Given the description of an element on the screen output the (x, y) to click on. 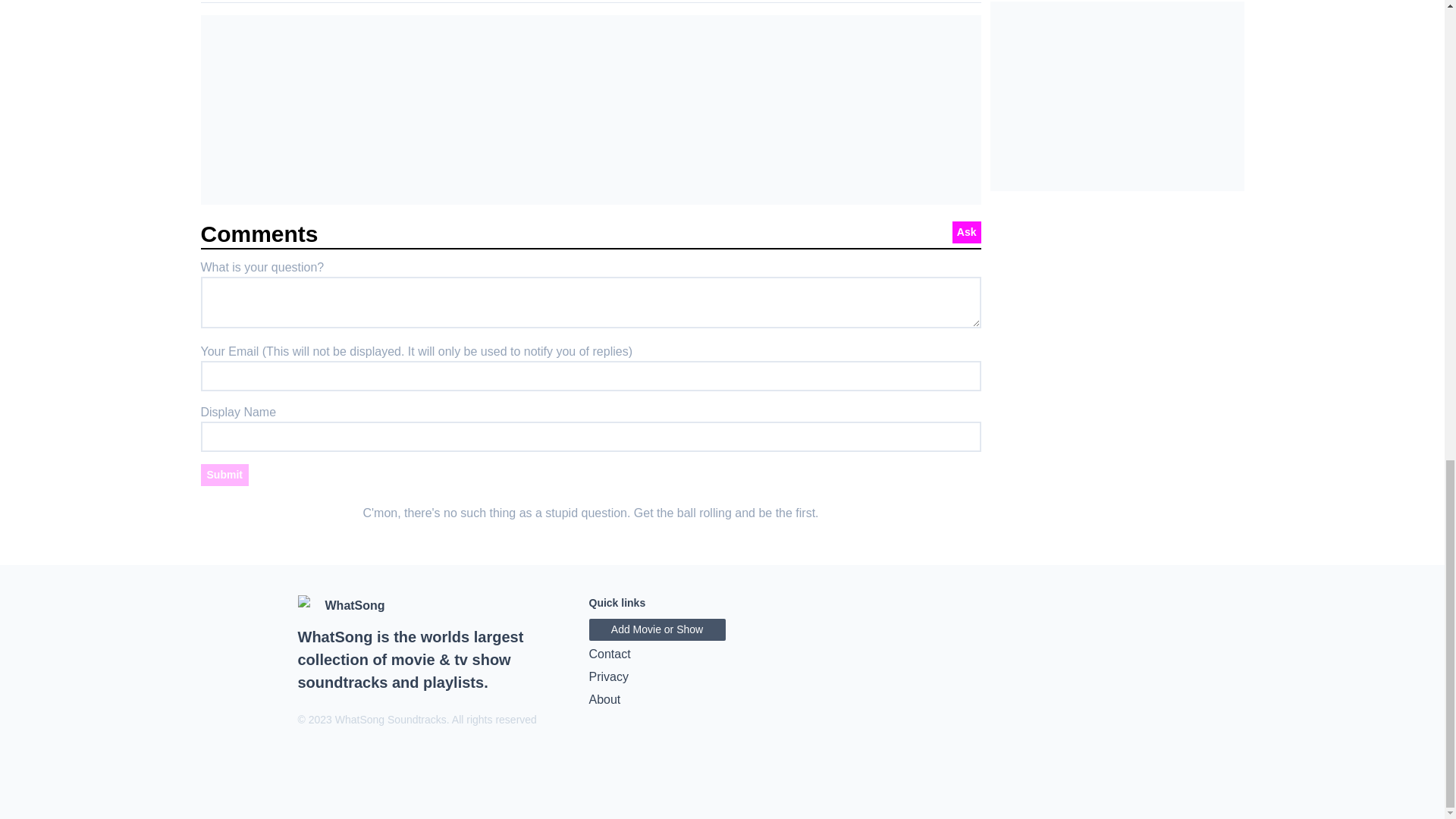
Submit (223, 475)
Add Movie or Show (656, 629)
Contact (722, 654)
Ask (966, 232)
